Given the description of an element on the screen output the (x, y) to click on. 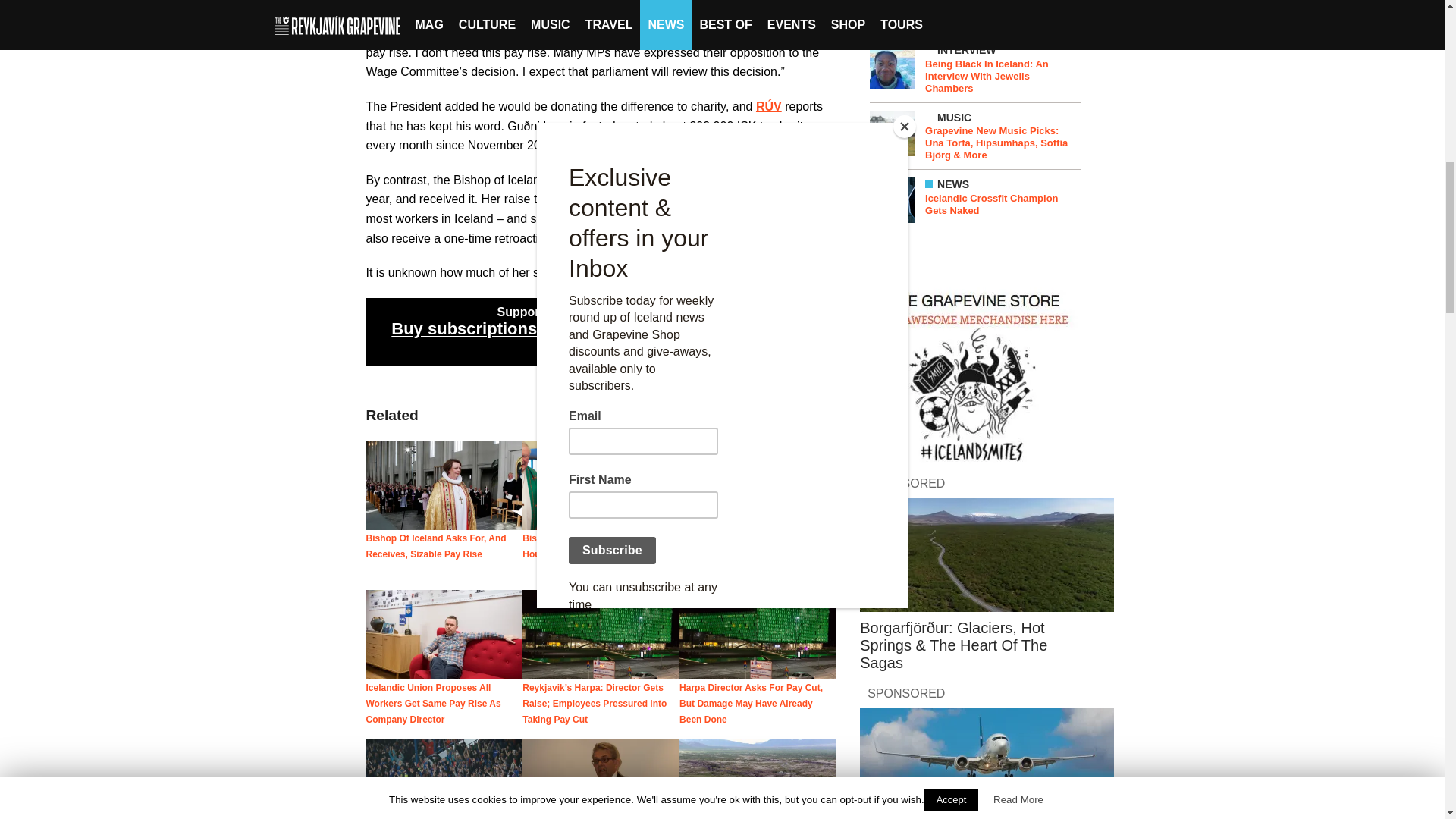
Bishop Of Iceland Asks For, And Receives, Sizable Pay Rise (435, 546)
Bishop Of Iceland Asks For, And Receives, Sizable Pay Rise (443, 484)
did request a raise (722, 179)
Bishop Of Iceland Asks For, And Receives, Sizable Pay Rise (435, 546)
